Given the description of an element on the screen output the (x, y) to click on. 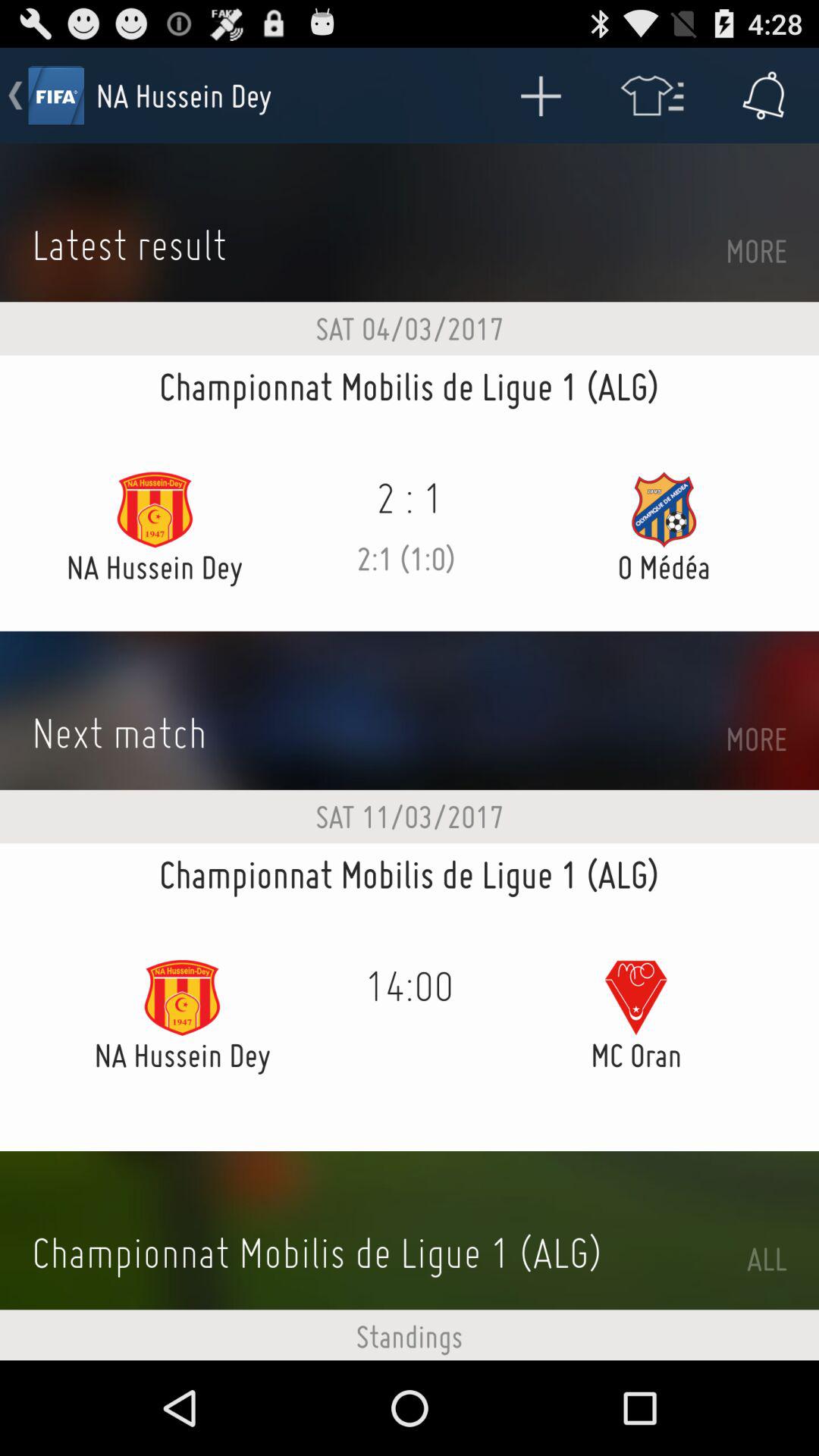
click on add icon (540, 95)
go to icon present in the left of 1400 (182, 997)
click on second icon which is at top right corner (651, 95)
